Given the description of an element on the screen output the (x, y) to click on. 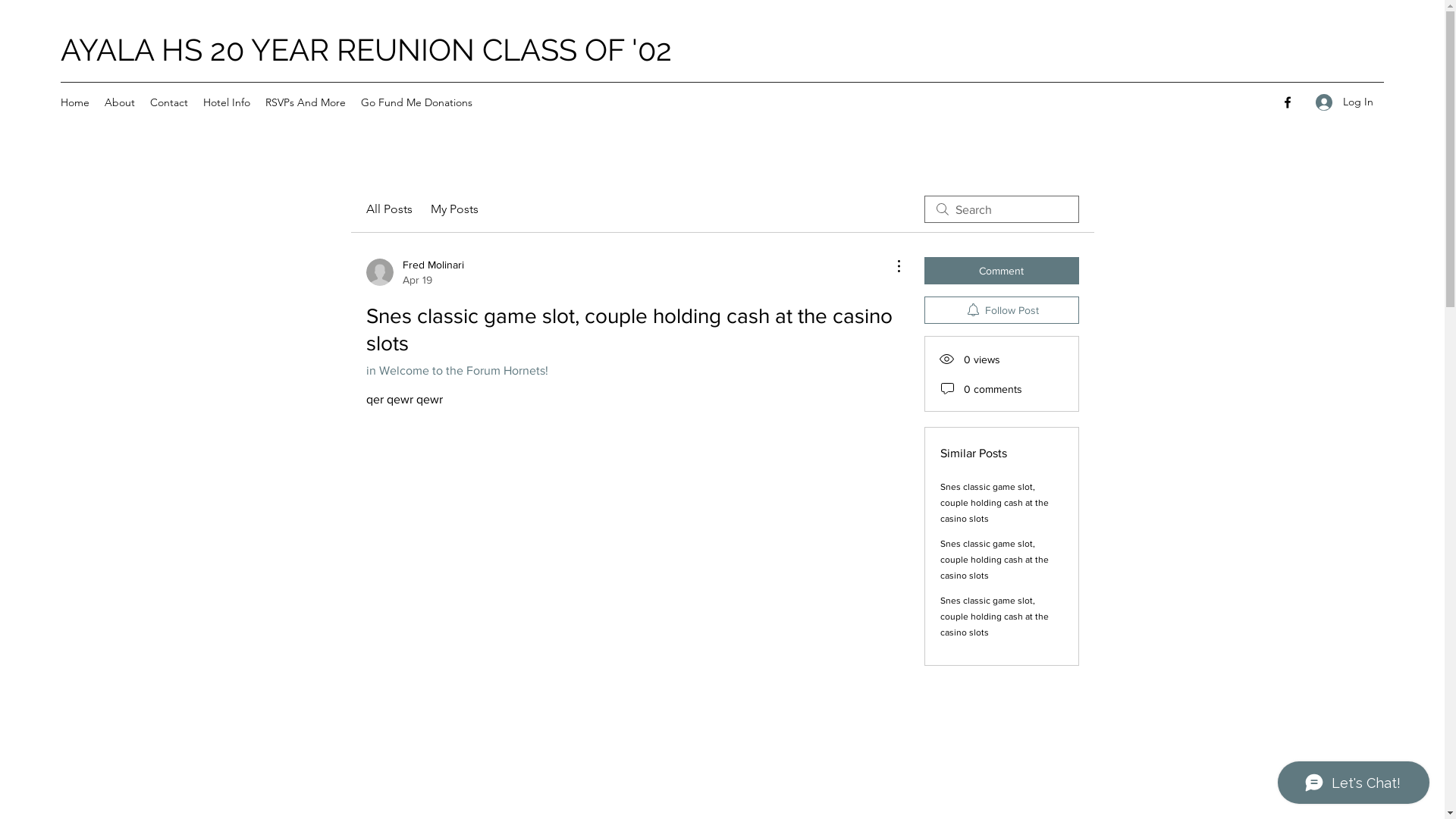
About Element type: text (119, 102)
Log In Element type: text (1344, 101)
Comment Element type: text (1000, 270)
in Welcome to the Forum Hornets! Element type: text (456, 370)
AYALA HS 20 YEAR REUNION CLASS OF Element type: text (345, 49)
RSVPs And More Element type: text (305, 102)
Follow Post Element type: text (1000, 309)
My Posts Element type: text (454, 209)
Go Fund Me Donations Element type: text (416, 102)
Home Element type: text (75, 102)
Fred Molinari
Apr 19 Element type: text (414, 272)
Hotel Info Element type: text (226, 102)
All Posts Element type: text (388, 209)
Contact Element type: text (168, 102)
